Given the description of an element on the screen output the (x, y) to click on. 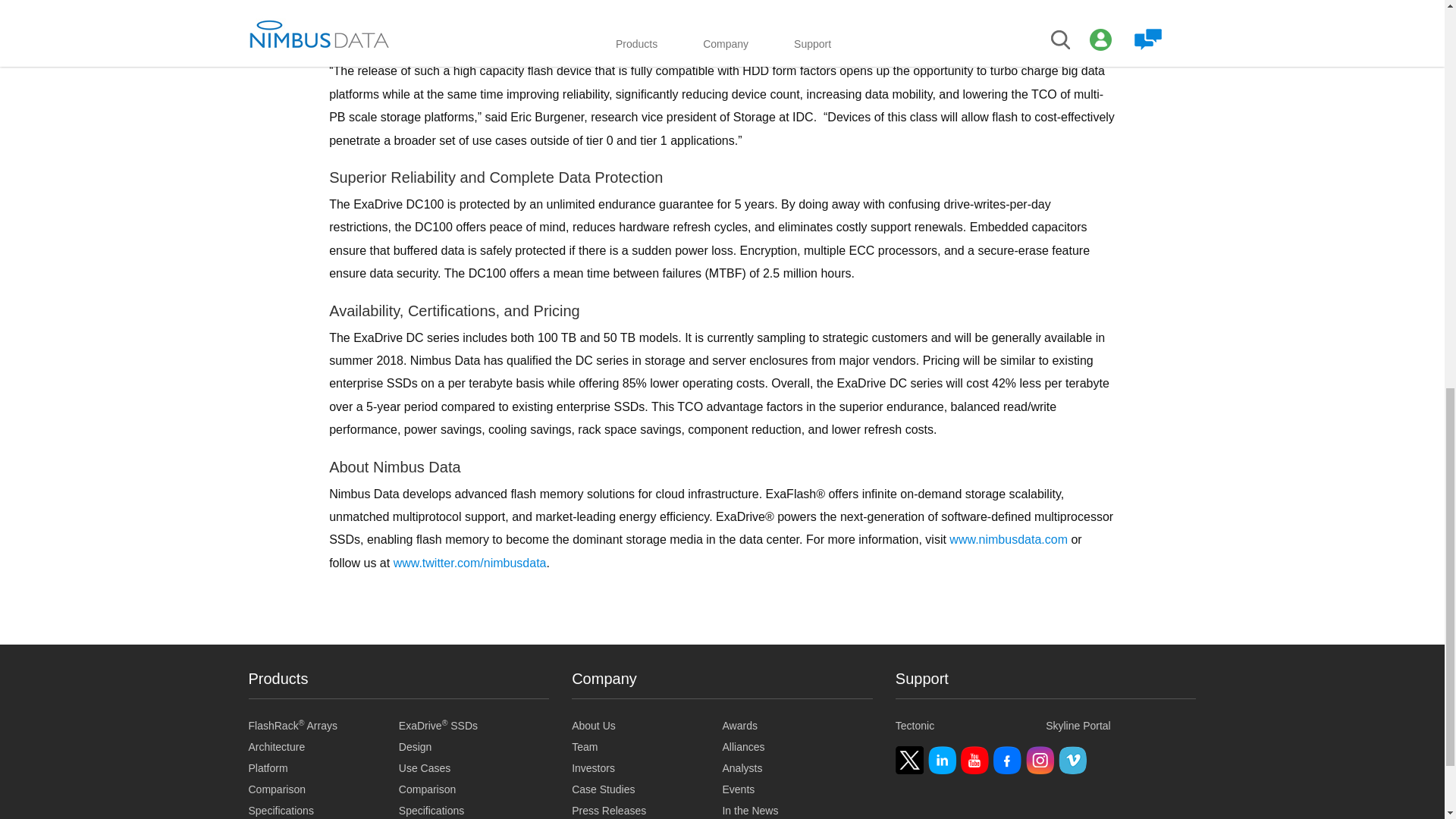
Comparison (323, 789)
Specifications (323, 811)
www.nimbusdata.com (1008, 539)
Platform (323, 768)
Design (473, 747)
Architecture (323, 747)
